Given the description of an element on the screen output the (x, y) to click on. 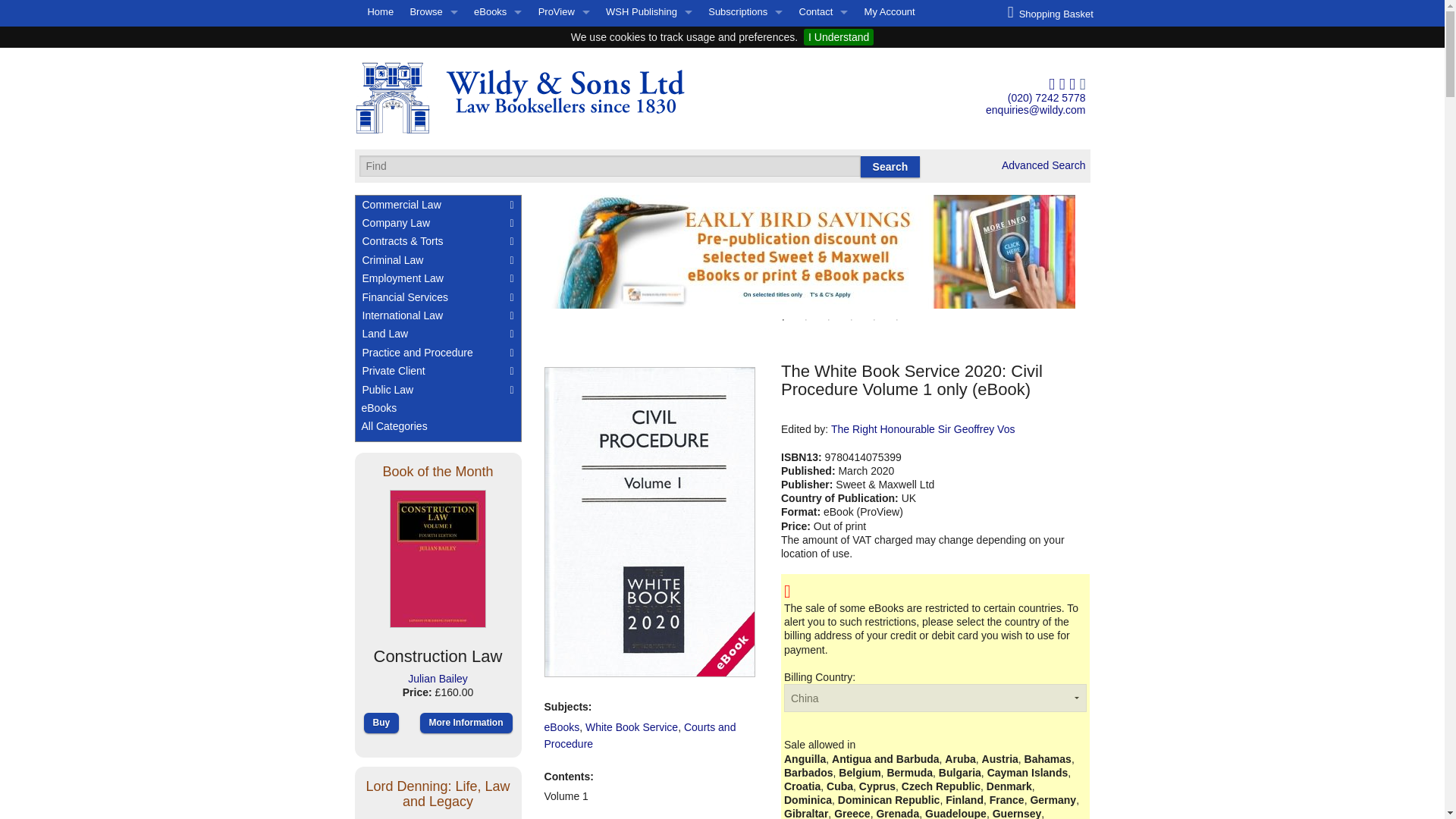
eBook Formats (497, 60)
All Titles by Subject (433, 36)
Home (380, 12)
Permissions Requests (648, 109)
About WSH Publishing (648, 36)
Search (890, 166)
About ProView (562, 36)
ProView by Subject (562, 60)
I Understand (838, 36)
Browse (433, 12)
